Given the description of an element on the screen output the (x, y) to click on. 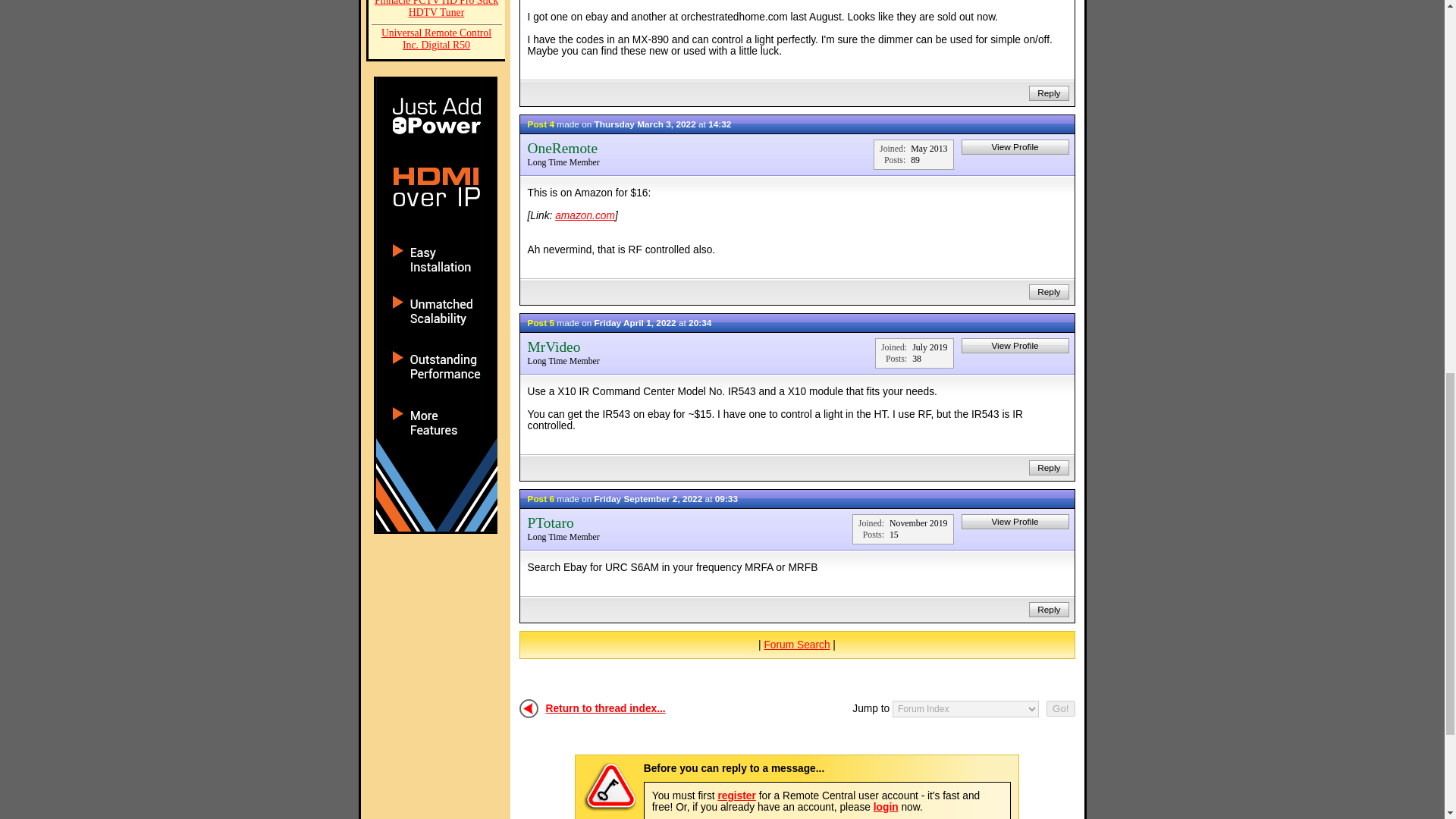
View Profile (1014, 345)
Reply (1048, 291)
Reply (1048, 92)
Universal Remote Control Inc. Digital R50 (436, 40)
Go! (1060, 708)
Reply (1048, 468)
View Profile (1014, 146)
Post 6 (540, 498)
Post 4 (540, 122)
Post 5 (540, 321)
